Given the description of an element on the screen output the (x, y) to click on. 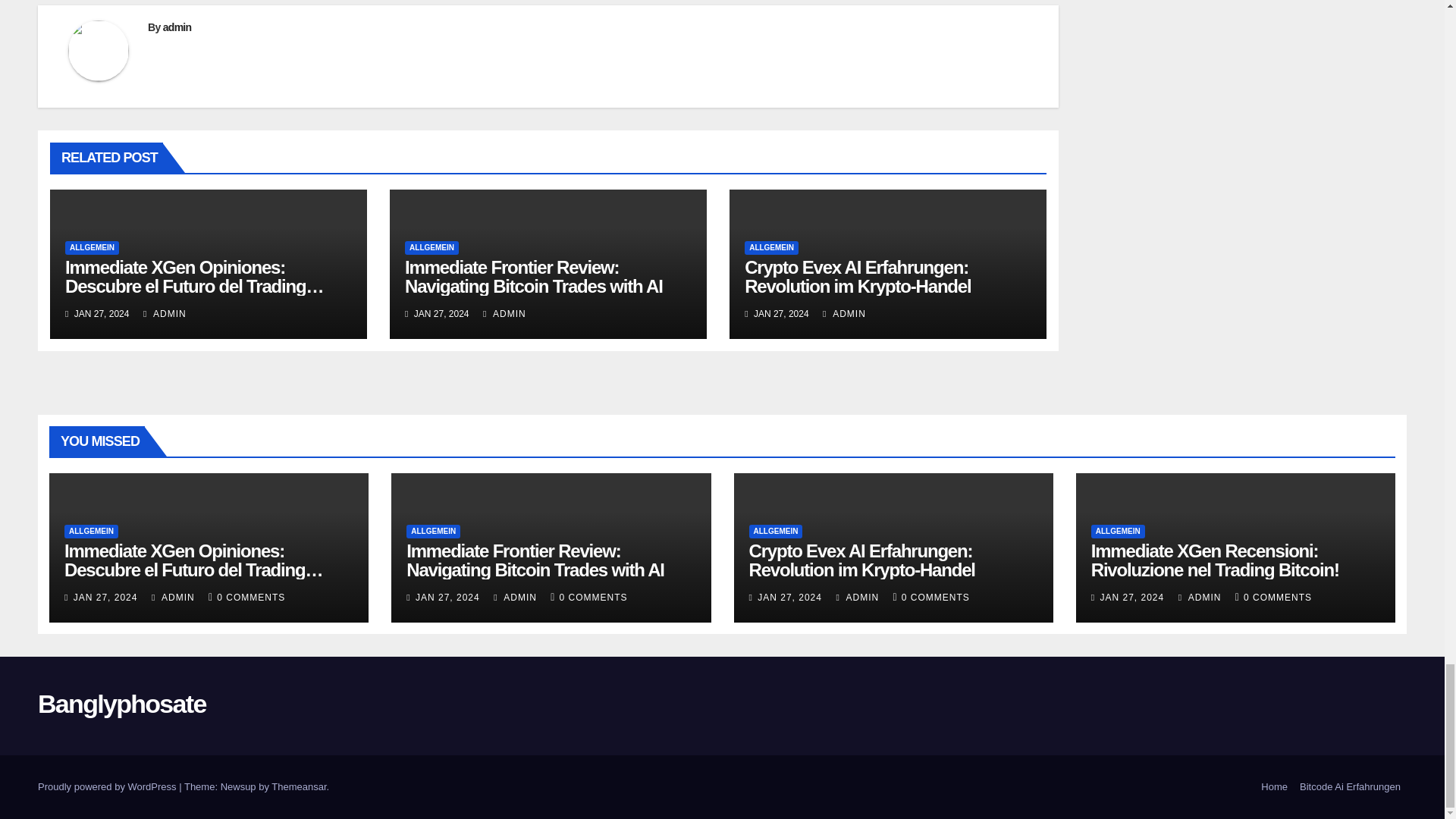
ADMIN (504, 313)
ALLGEMEIN (431, 247)
Immediate Frontier Review: Navigating Bitcoin Trades with AI (533, 276)
ADMIN (164, 313)
ALLGEMEIN (92, 247)
